Given the description of an element on the screen output the (x, y) to click on. 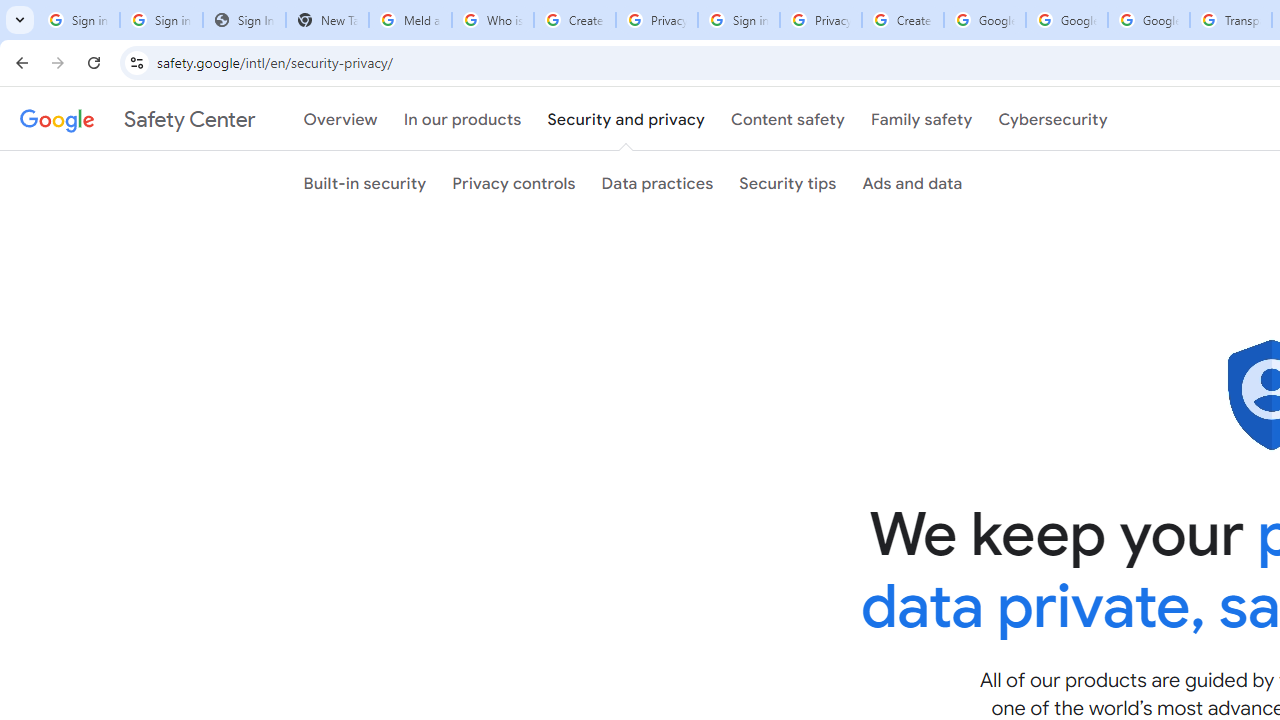
Sign in - Google Accounts (738, 20)
Who is my administrator? - Google Account Help (492, 20)
Security and privacy (626, 119)
Create your Google Account (902, 20)
Sign in - Google Accounts (78, 20)
In our products (462, 119)
